Given the description of an element on the screen output the (x, y) to click on. 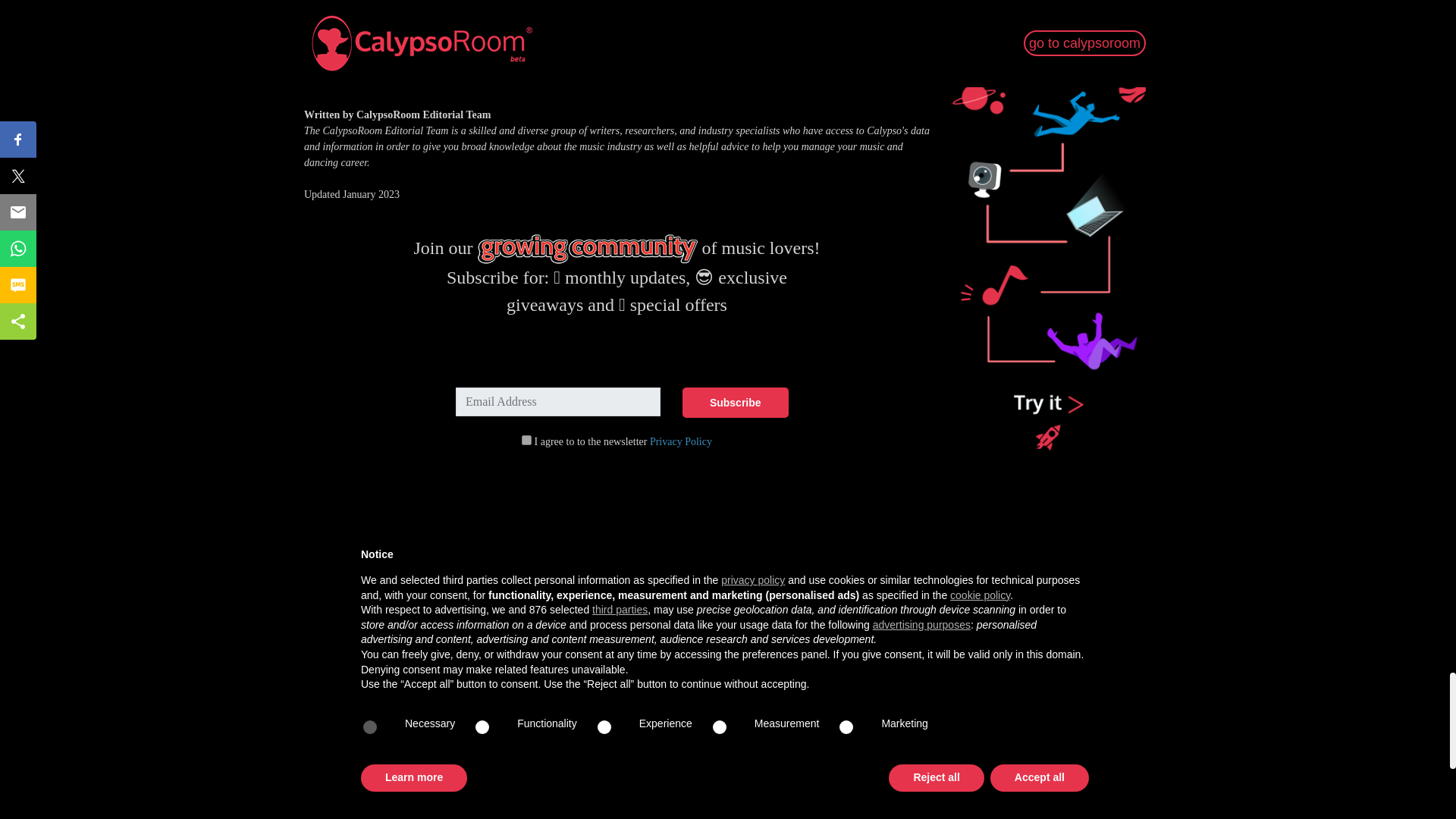
2 (526, 439)
Subscribe (735, 402)
Privacy Policy (680, 441)
back (313, 82)
